Given the description of an element on the screen output the (x, y) to click on. 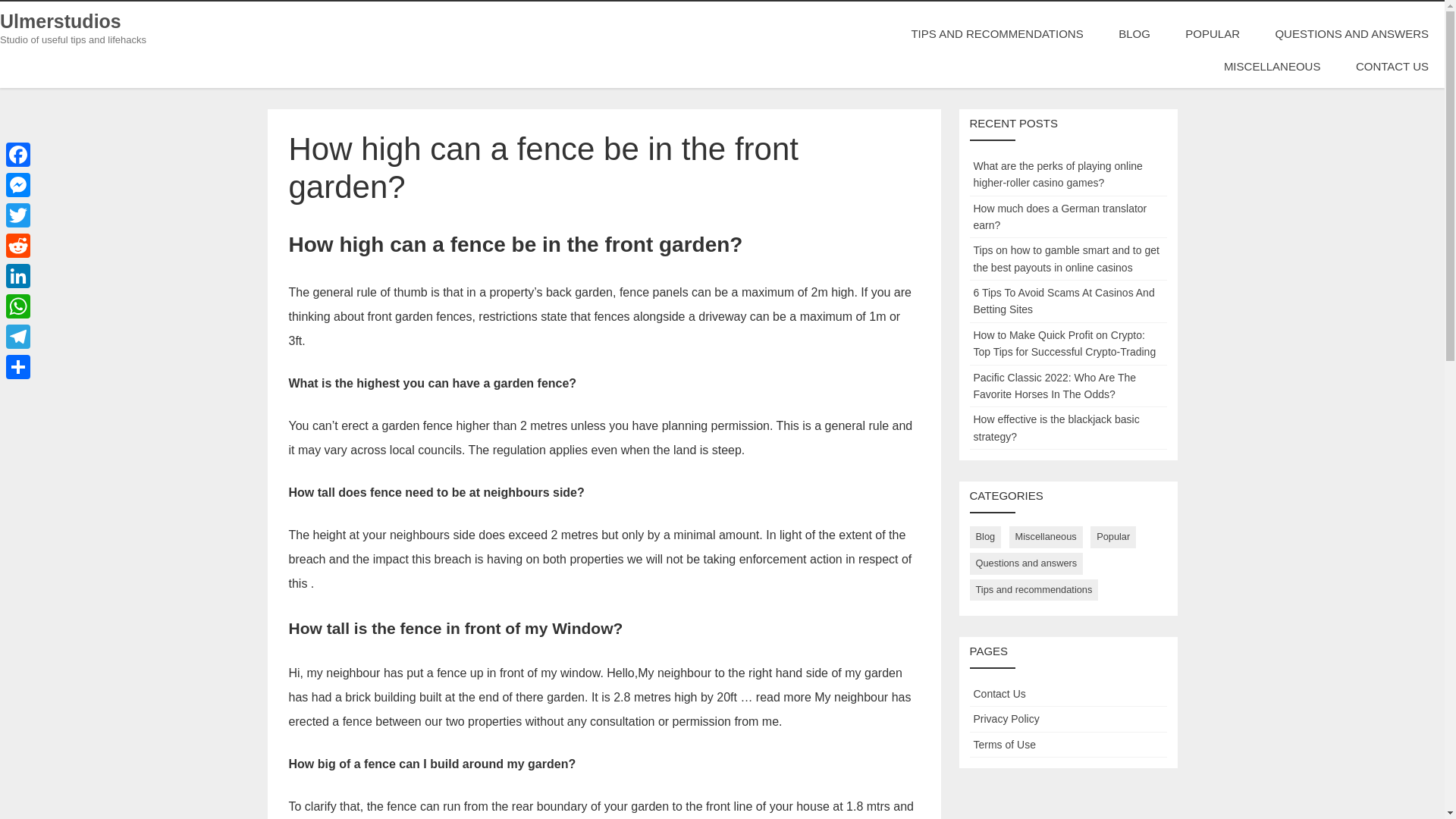
MISCELLANEOUS (1272, 65)
Ulmerstudios (60, 21)
How much does a German translator earn? (1060, 215)
Miscellaneous (1046, 536)
LinkedIn (17, 276)
WhatsApp (17, 306)
